Given the description of an element on the screen output the (x, y) to click on. 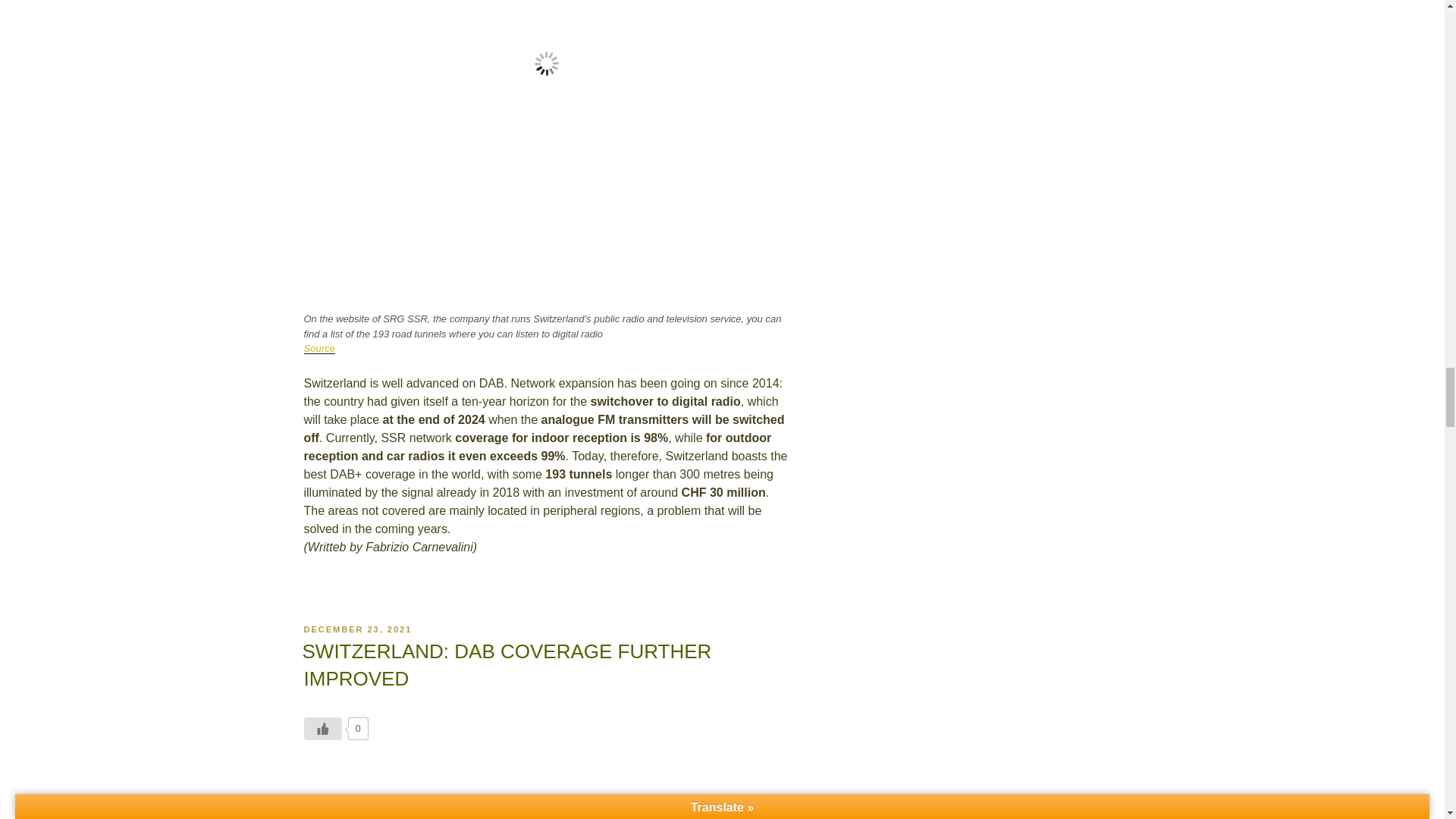
SWITZERLAND: DAB COVERAGE FURTHER IMPROVED (506, 664)
Source (318, 348)
DECEMBER 23, 2021 (357, 628)
